Given the description of an element on the screen output the (x, y) to click on. 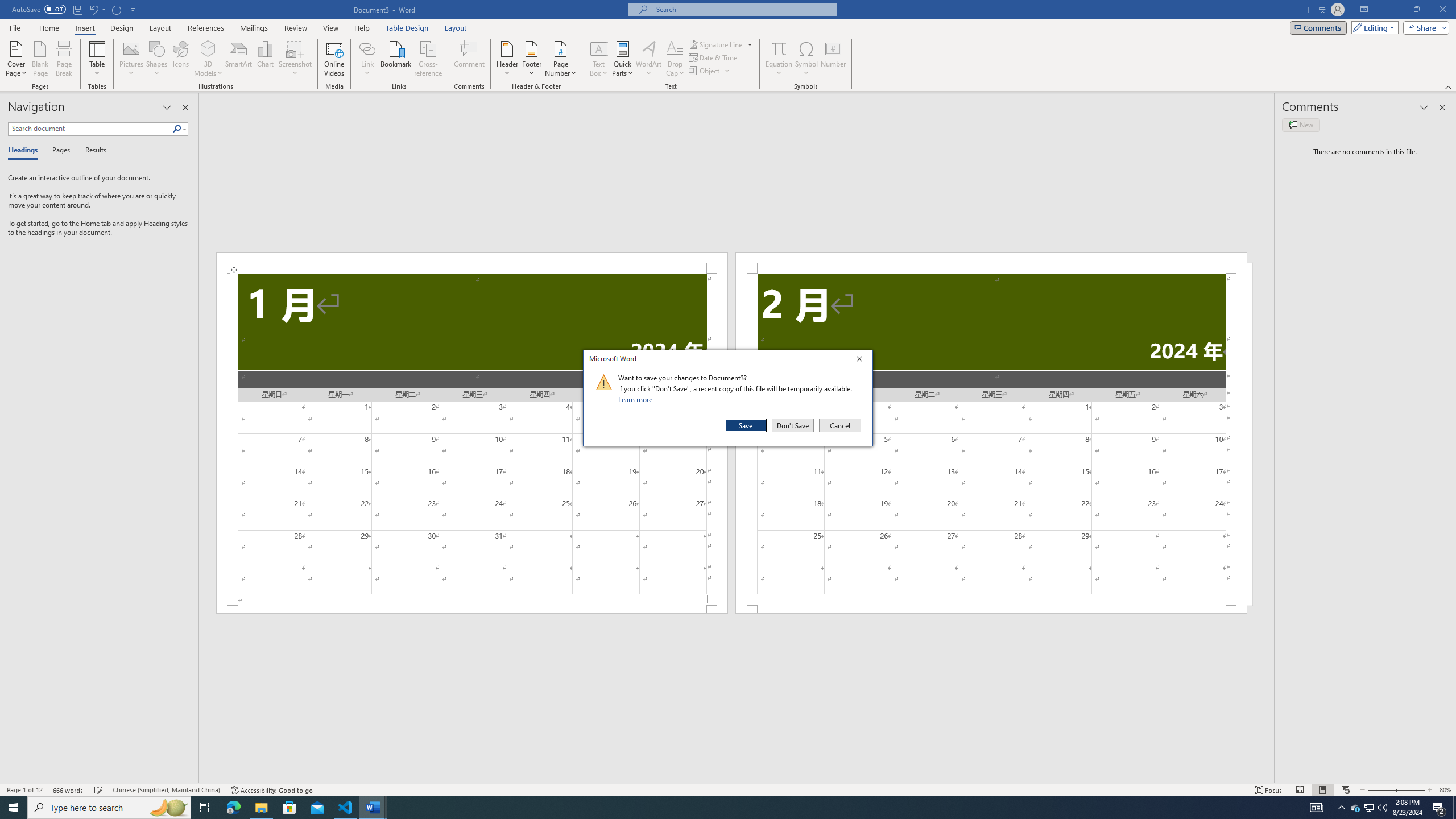
Running applications (717, 807)
Bookmark... (396, 58)
Customize Quick Access Toolbar (133, 9)
Equation (778, 58)
Collapse the Ribbon (1448, 86)
Minimize (1390, 9)
Table (97, 58)
Page Number (560, 58)
Type here to search (108, 807)
Share (1423, 27)
